Given the description of an element on the screen output the (x, y) to click on. 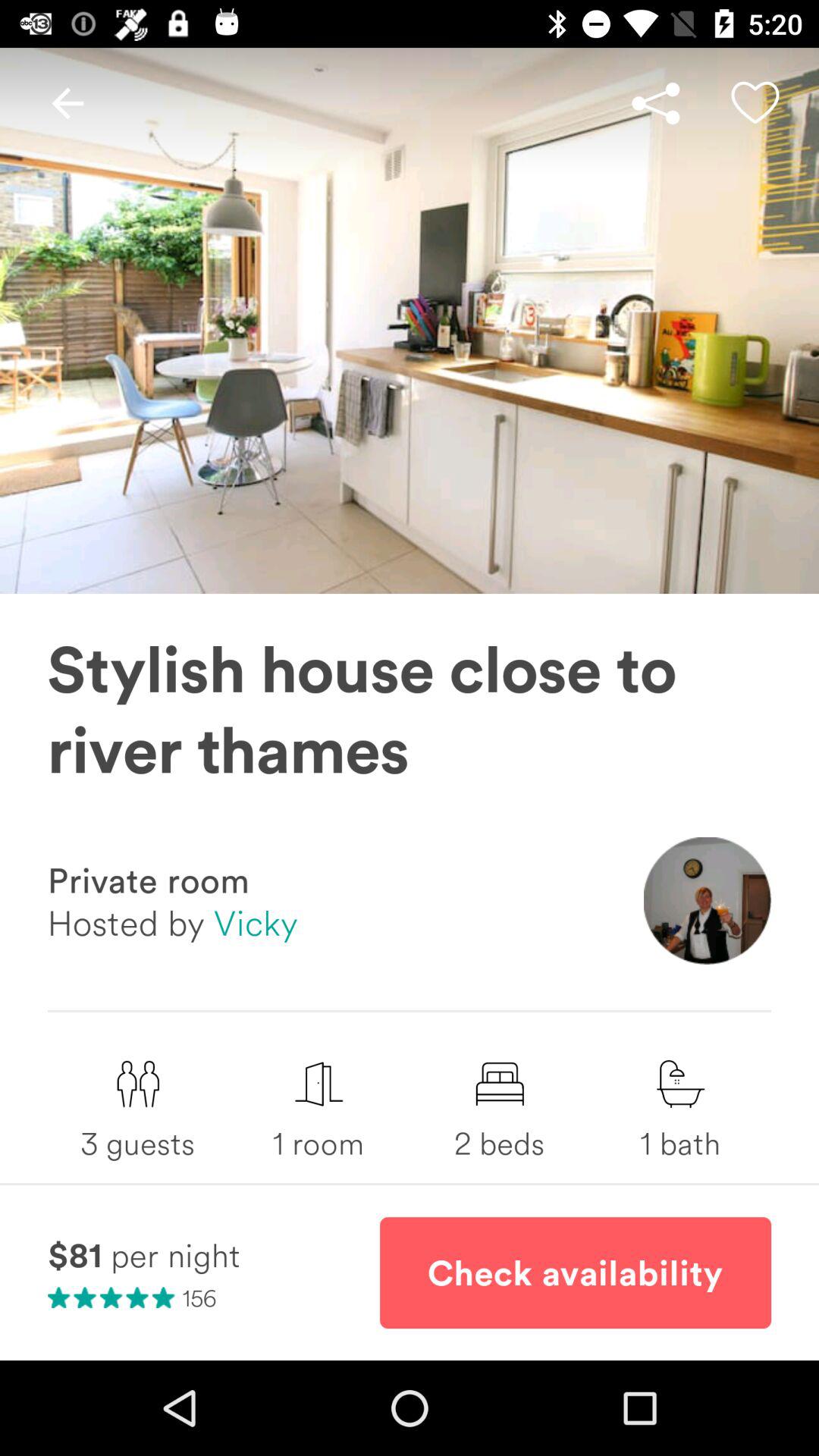
click the icon on the right (707, 900)
